Given the description of an element on the screen output the (x, y) to click on. 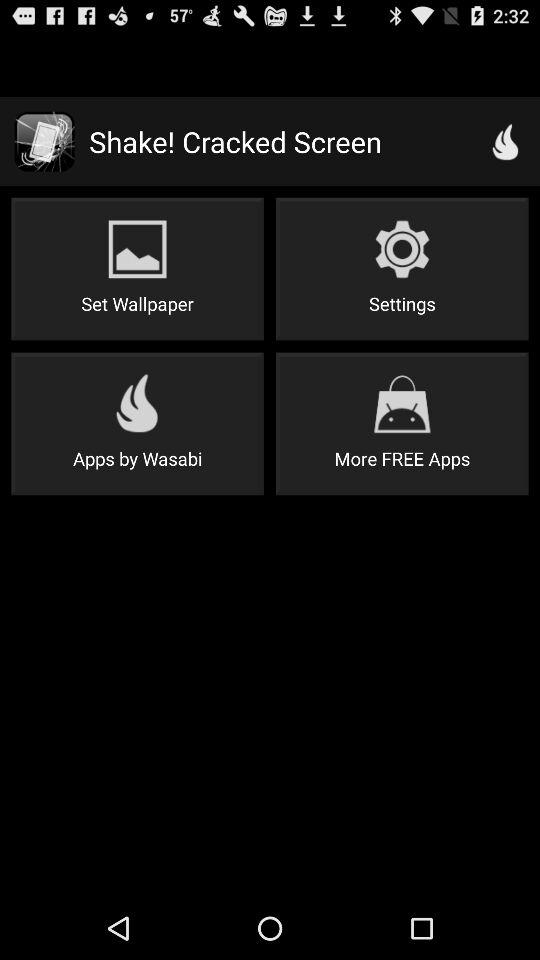
choose the icon next to apps by wasabi icon (402, 423)
